Given the description of an element on the screen output the (x, y) to click on. 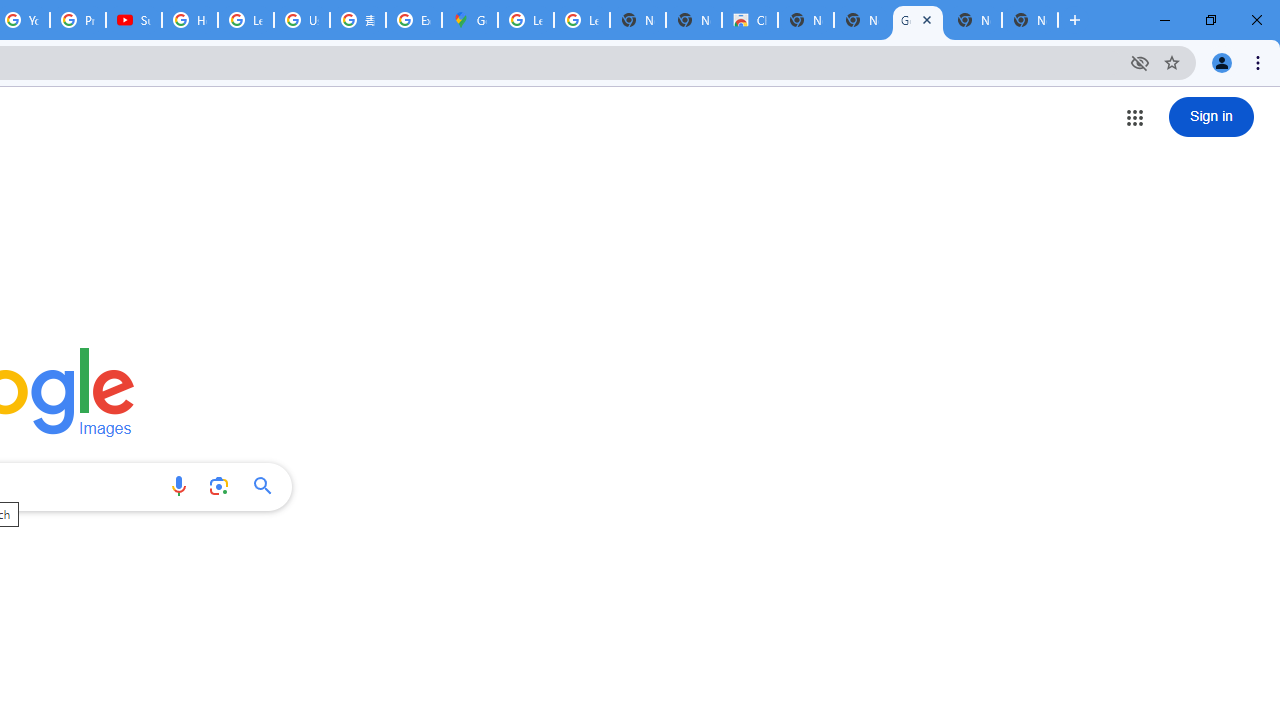
Google Images (917, 20)
Explore new street-level details - Google Maps Help (413, 20)
How Chrome protects your passwords - Google Chrome Help (189, 20)
Chrome Web Store (749, 20)
